Given the description of an element on the screen output the (x, y) to click on. 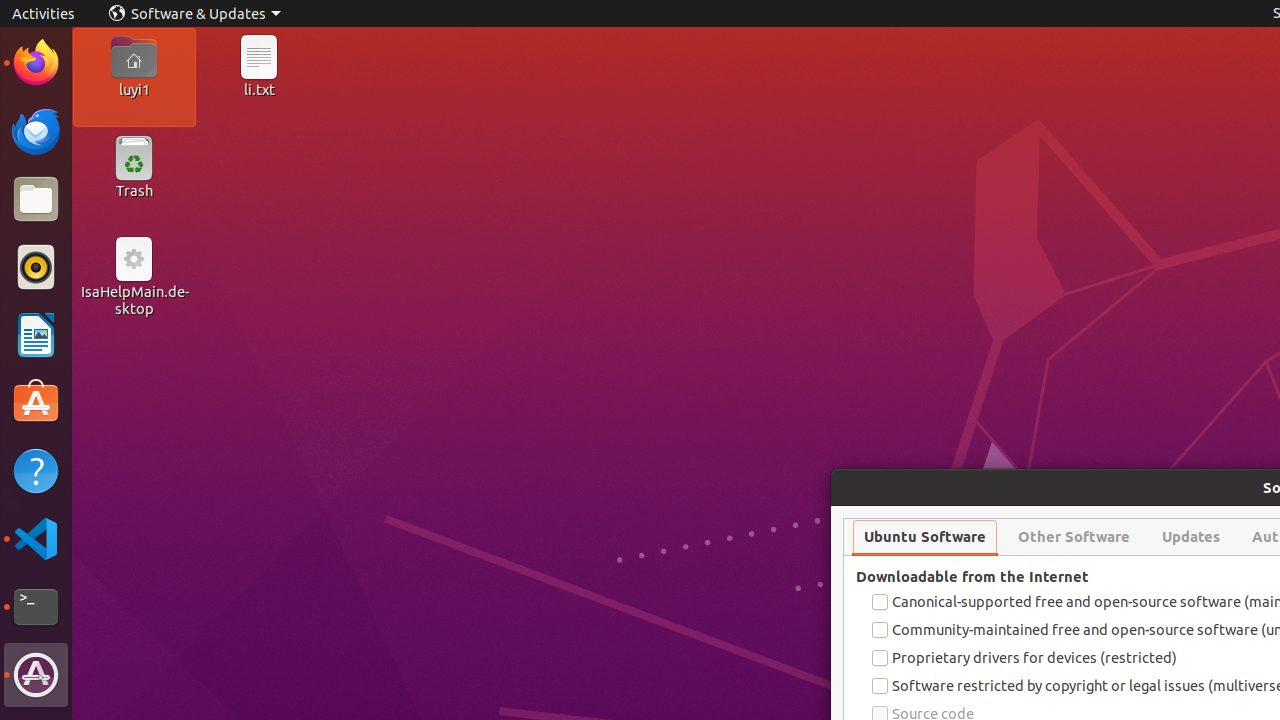
Software & Updates Element type: menu (195, 13)
Downloadable from the Internet Element type: label (972, 576)
Activities Element type: label (43, 13)
